Given the description of an element on the screen output the (x, y) to click on. 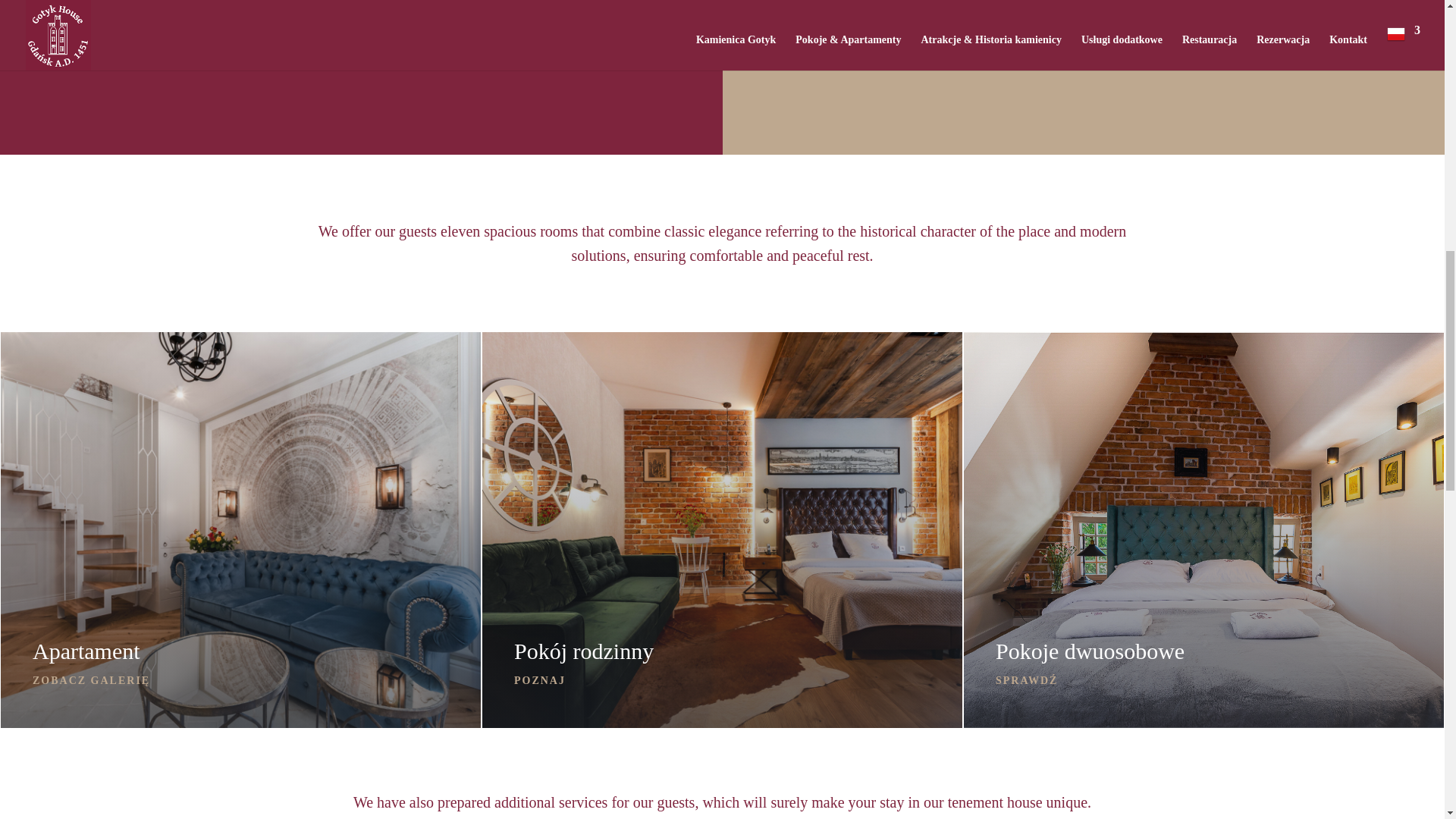
Przeczytaj (1083, 5)
